Given the description of an element on the screen output the (x, y) to click on. 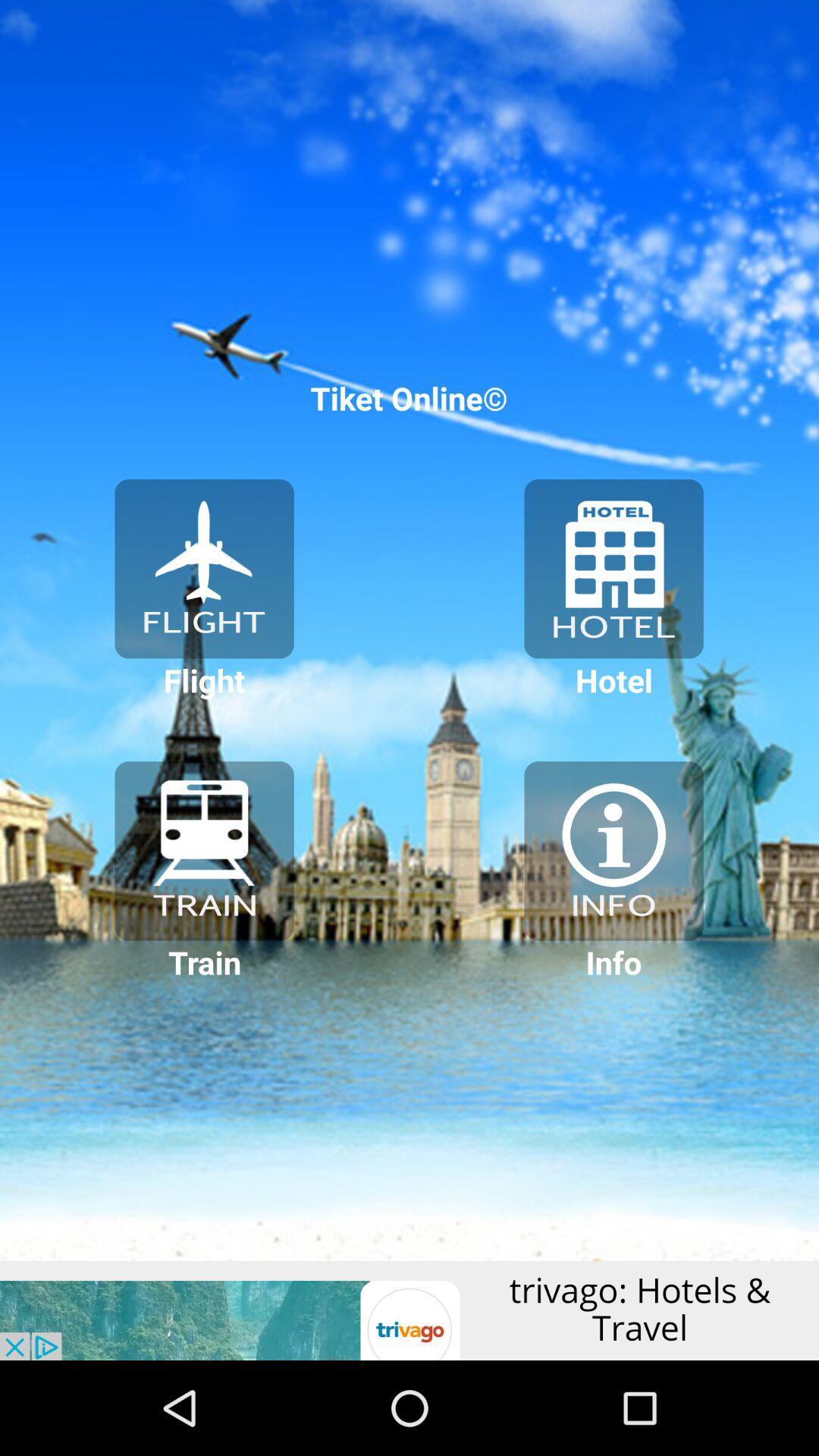
select hotel option (613, 568)
